Given the description of an element on the screen output the (x, y) to click on. 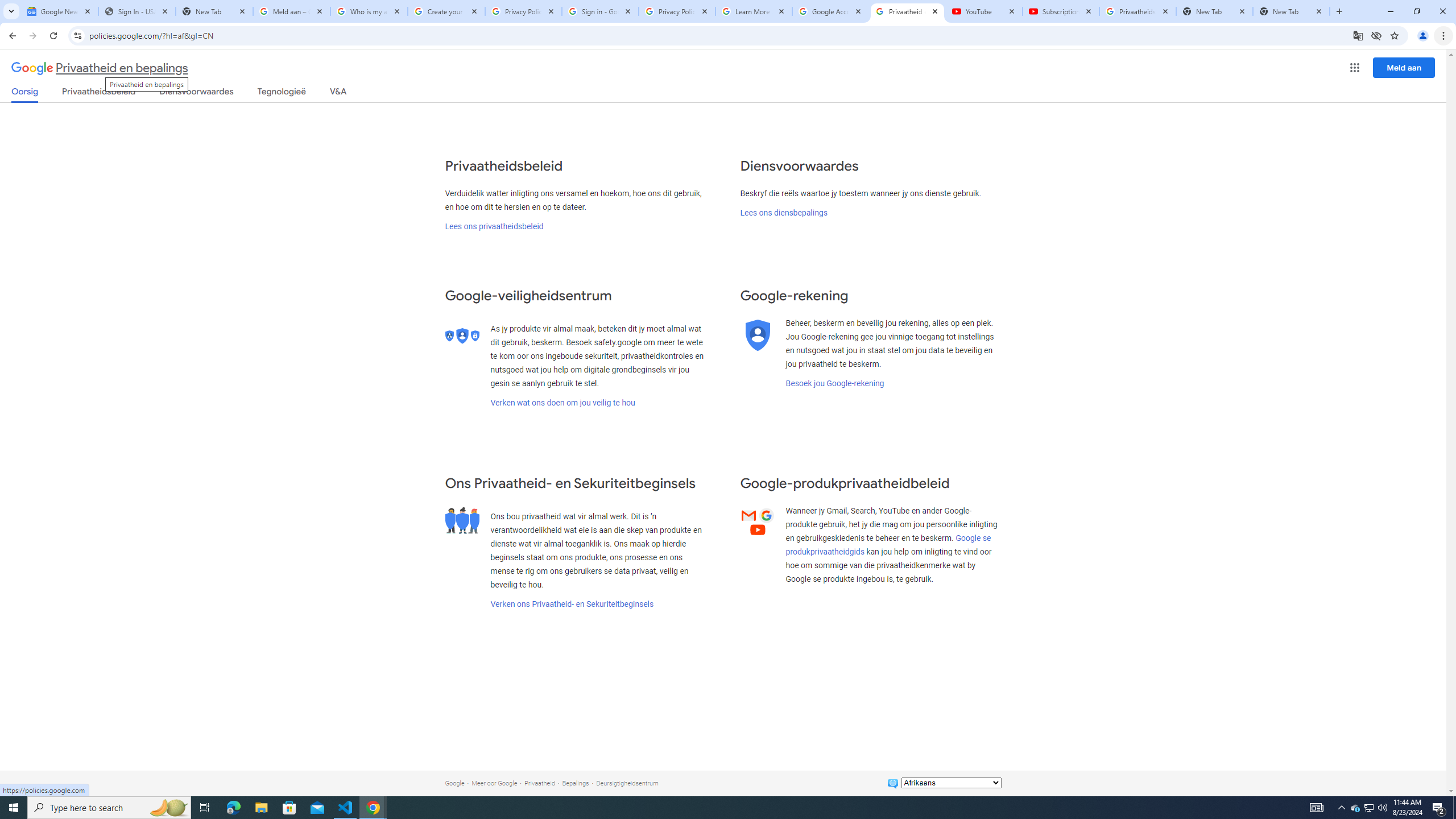
YouTube (983, 11)
Besoek jou Google-rekening (833, 383)
Subscriptions - YouTube (1061, 11)
Sign In - USA TODAY (136, 11)
Verken wat ons doen om jou veilig te hou (562, 402)
Lees ons diensbepalings (783, 212)
